Given the description of an element on the screen output the (x, y) to click on. 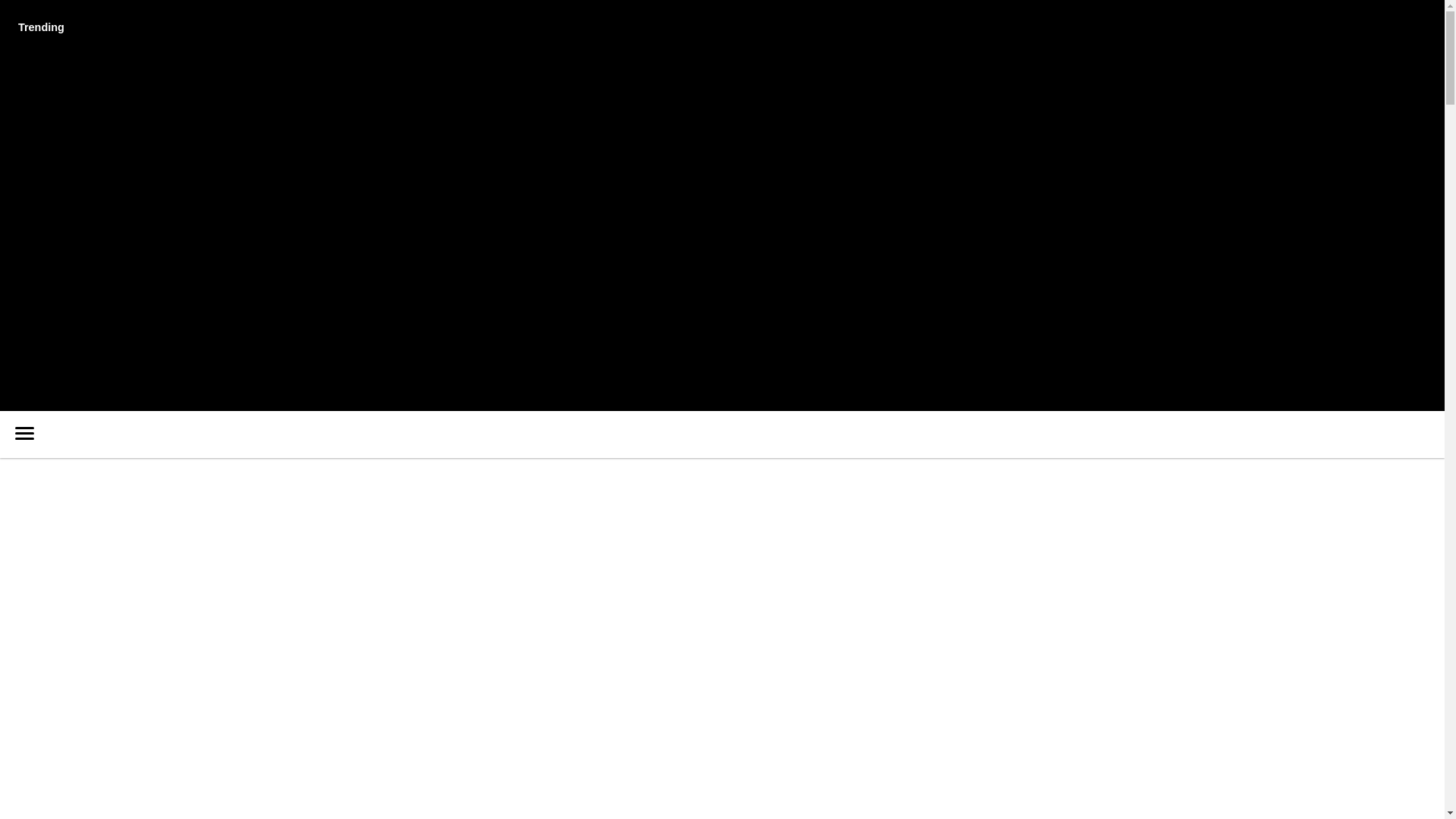
AddThis Website Tools (125, 243)
